Given the description of an element on the screen output the (x, y) to click on. 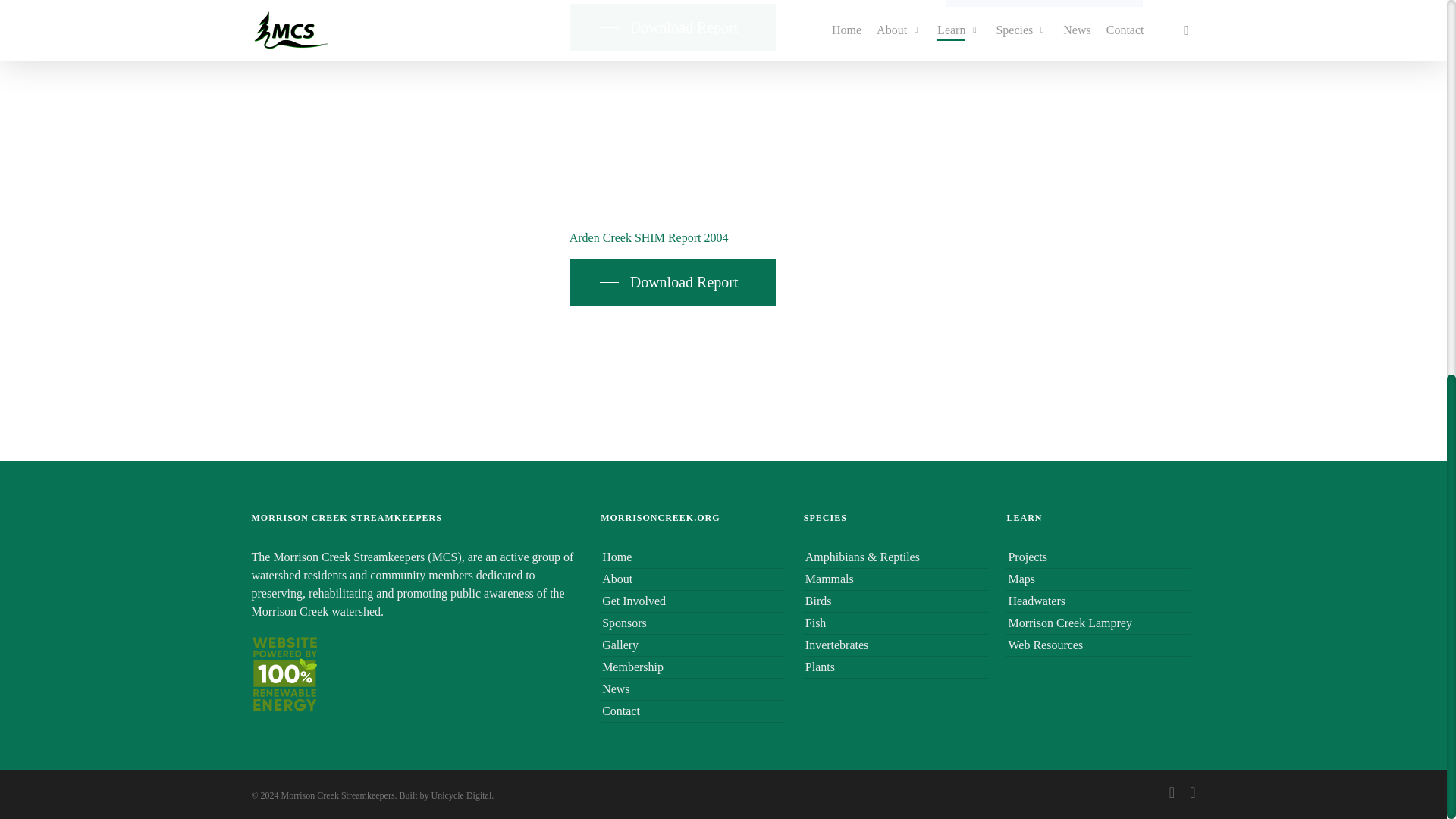
Arden Creek SHIM Report 2004 (649, 237)
Download Report (672, 27)
Download Report (672, 282)
